Given the description of an element on the screen output the (x, y) to click on. 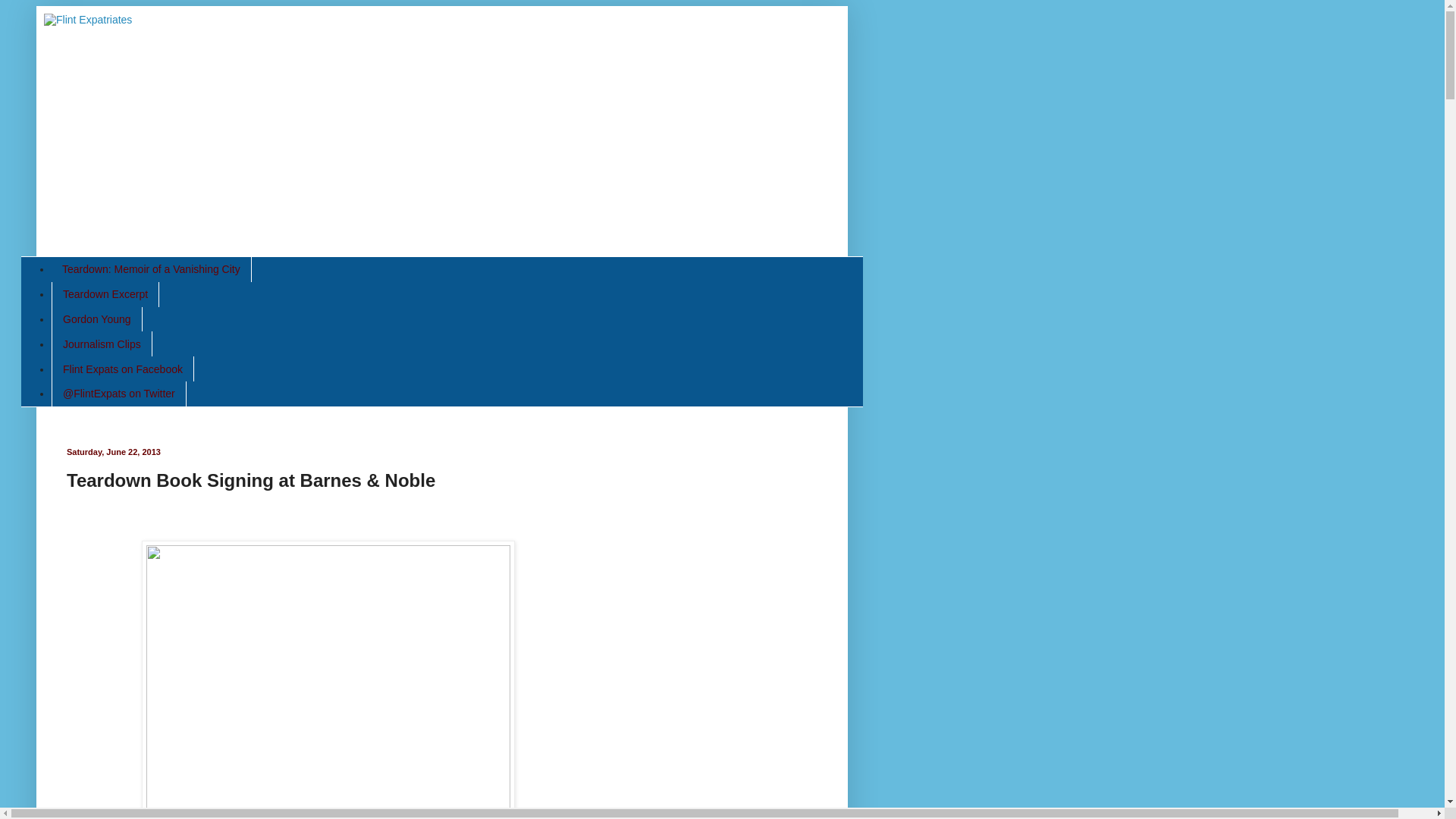
Teardown: Memoir of a Vanishing City (150, 269)
Teardown Excerpt (104, 294)
Gordon Young (96, 319)
Journalism Clips (101, 343)
Flint Expats on Facebook (121, 368)
